Given the description of an element on the screen output the (x, y) to click on. 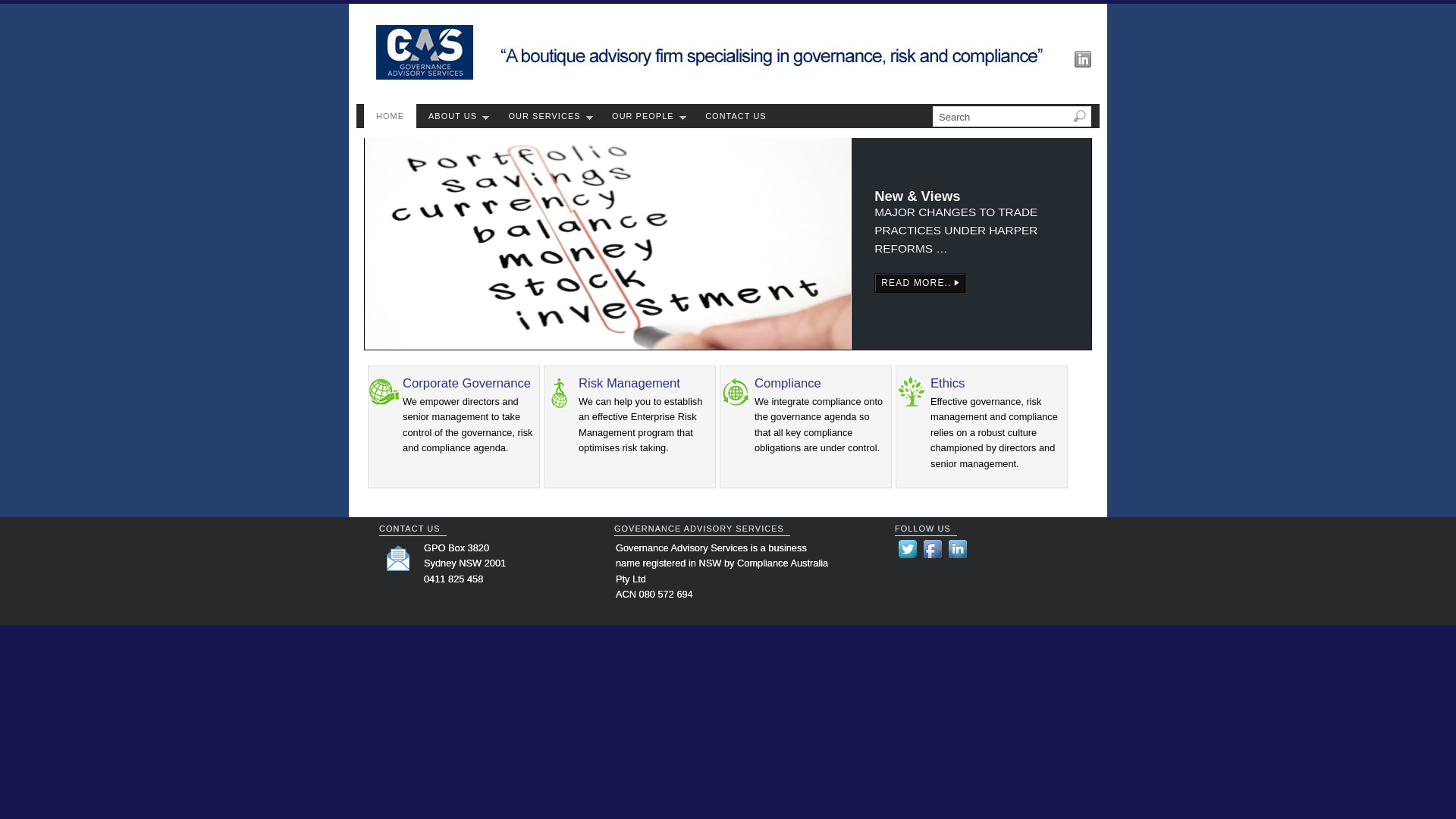
OUR SERVICES Element type: text (548, 115)
Ethics Element type: hover (911, 405)
Corporate Governance Element type: text (466, 383)
Compliance Element type: text (787, 383)
Compliance Element type: hover (735, 405)
OUR PEOPLE Element type: text (646, 115)
Risk Management Element type: text (629, 383)
Visit Us On Facebook Element type: hover (931, 557)
READ MORE.. Element type: text (919, 282)
CONTACT US Element type: text (735, 115)
Visit Us On Linkedin Element type: hover (956, 557)
Ethics Element type: text (947, 383)
Corporate Governance Element type: hover (383, 405)
Risk Management Element type: hover (559, 405)
Visit Us On Twitter Element type: hover (906, 557)
HOME Element type: text (390, 115)
ABOUT US Element type: text (456, 115)
